Given the description of an element on the screen output the (x, y) to click on. 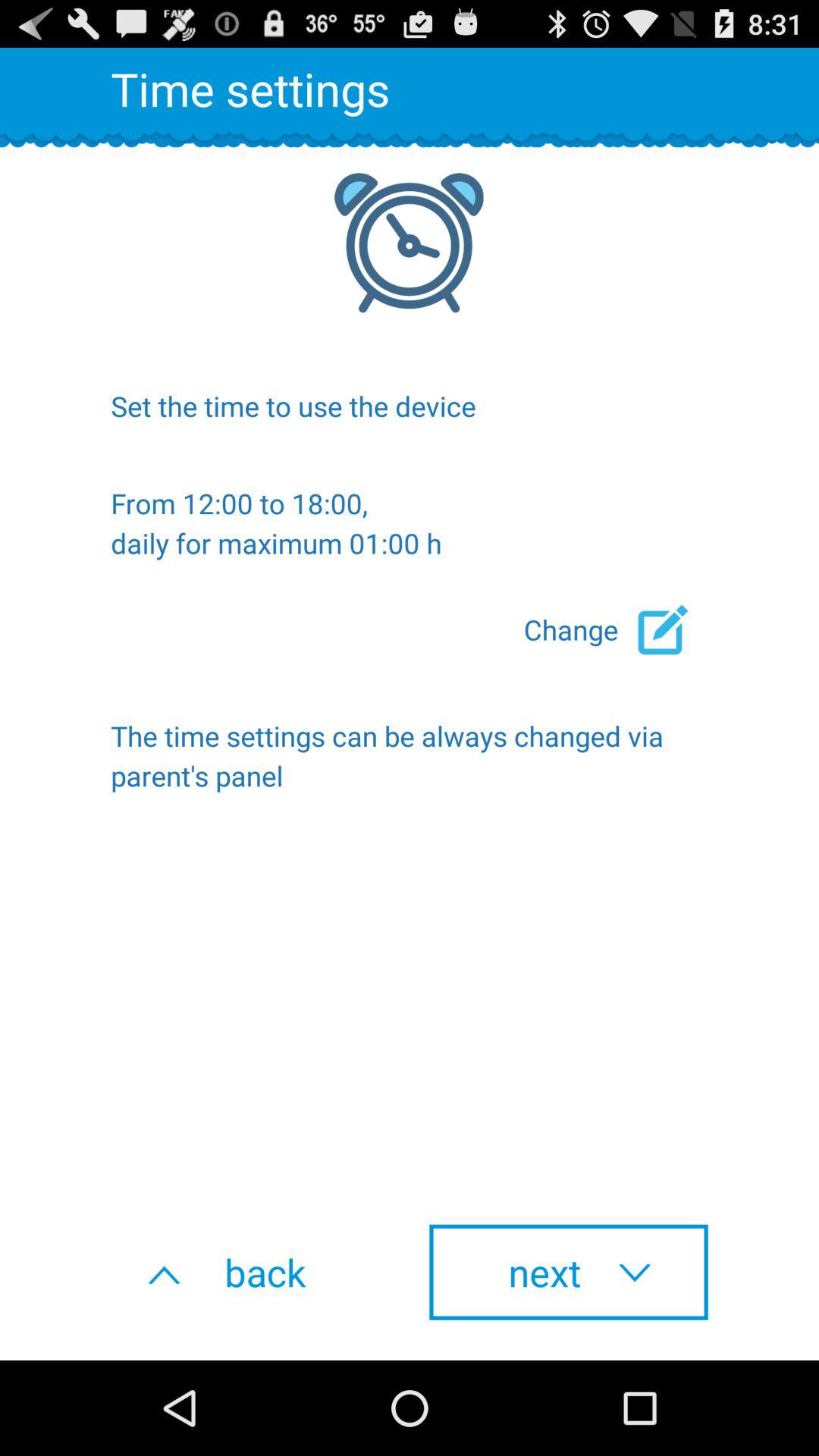
select change icon (615, 629)
